Given the description of an element on the screen output the (x, y) to click on. 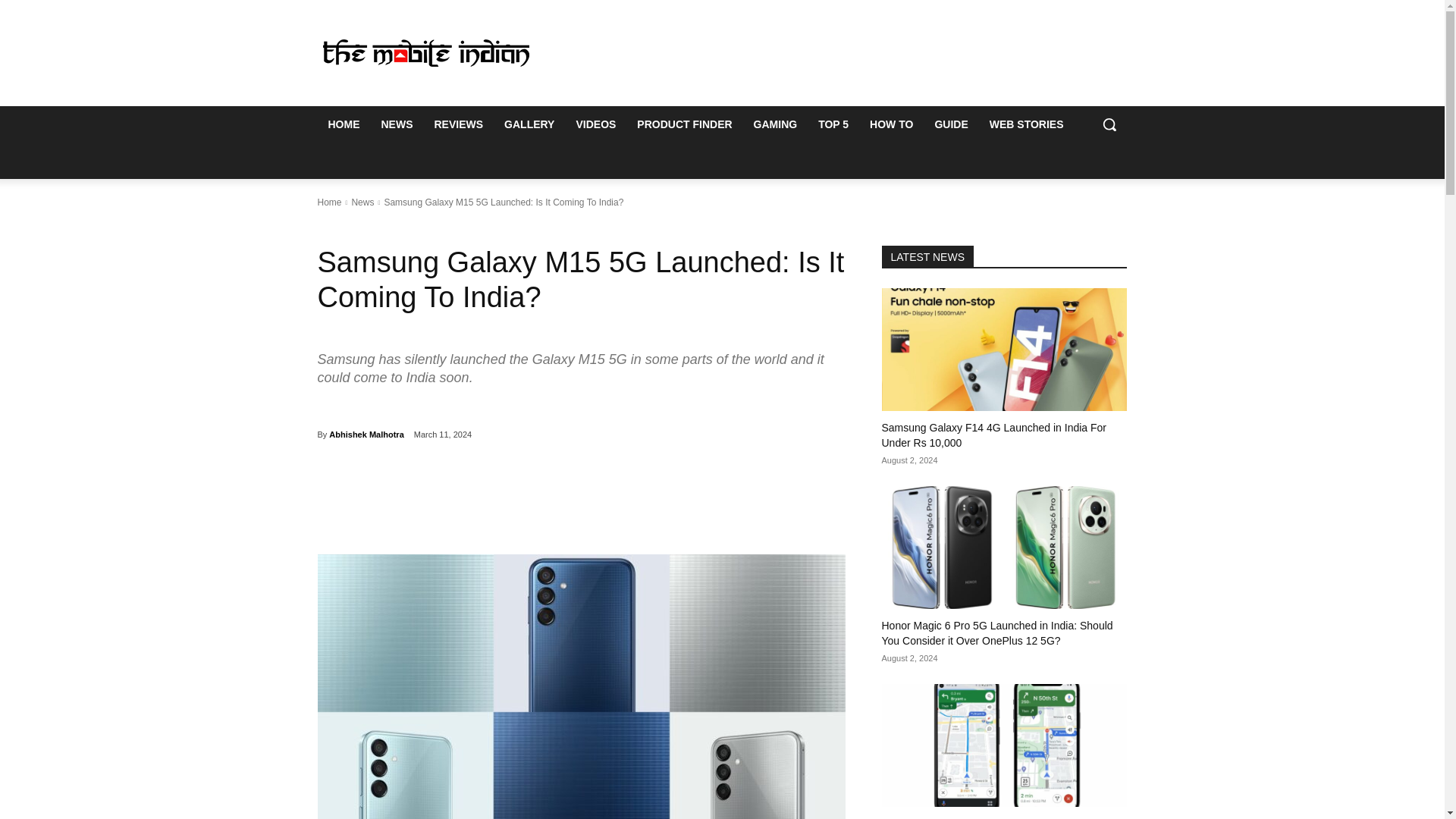
HOME (343, 124)
VIDEOS (595, 124)
The Mobile Indian (425, 52)
GUIDE (950, 124)
Abhishek Malhotra (366, 434)
REVIEWS (458, 124)
Home (328, 202)
GAMING (775, 124)
The Mobile Indian (426, 52)
News (362, 202)
TOP 5 (833, 124)
View all posts in News (362, 202)
PRODUCT FINDER (684, 124)
WEB STORIES (1026, 124)
